Given the description of an element on the screen output the (x, y) to click on. 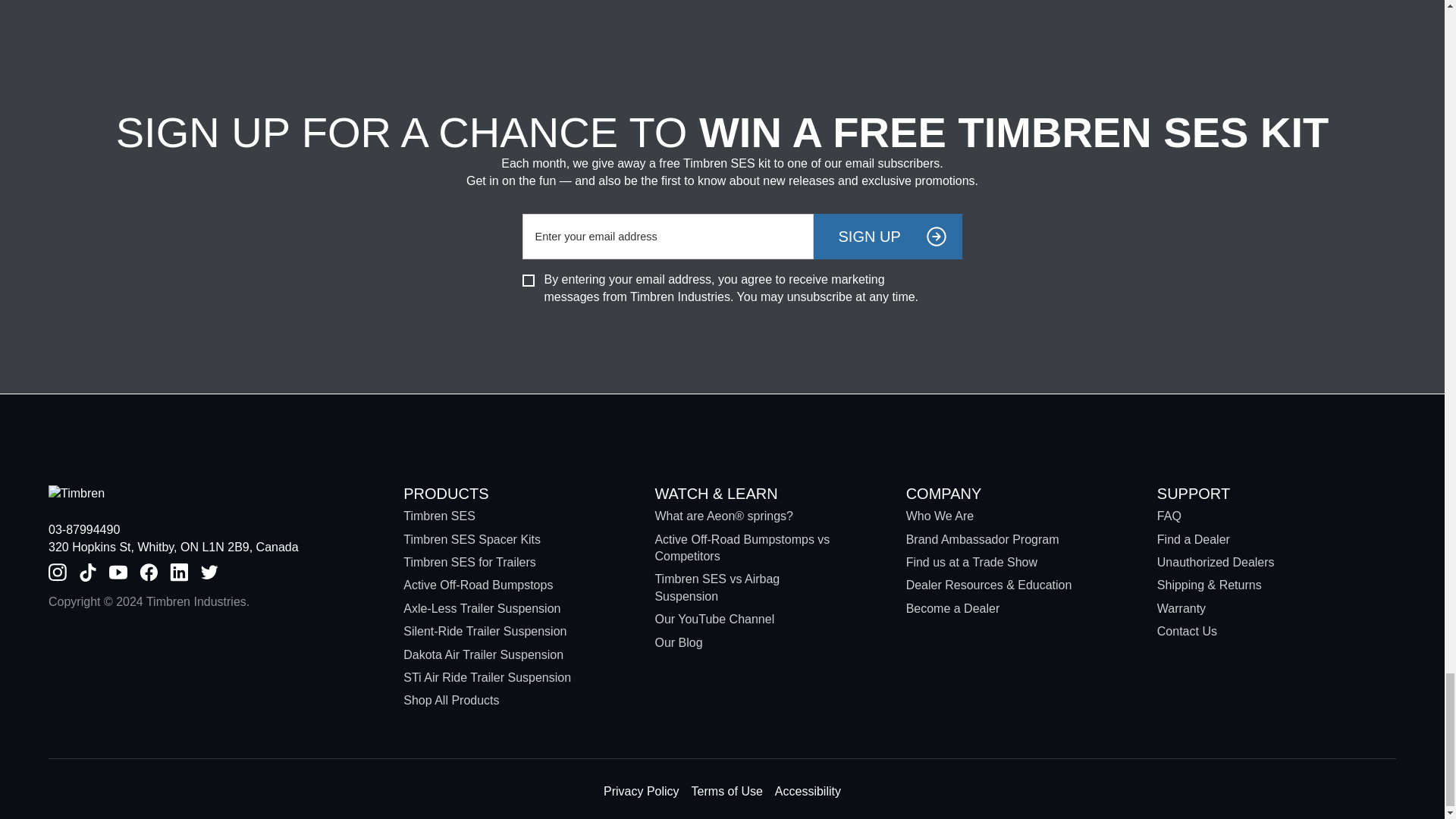
true (527, 280)
YouTube (118, 572)
Facebook (148, 572)
Tiktok (87, 572)
Linkedin (178, 572)
Instagram (57, 572)
Twitter (209, 572)
